Given the description of an element on the screen output the (x, y) to click on. 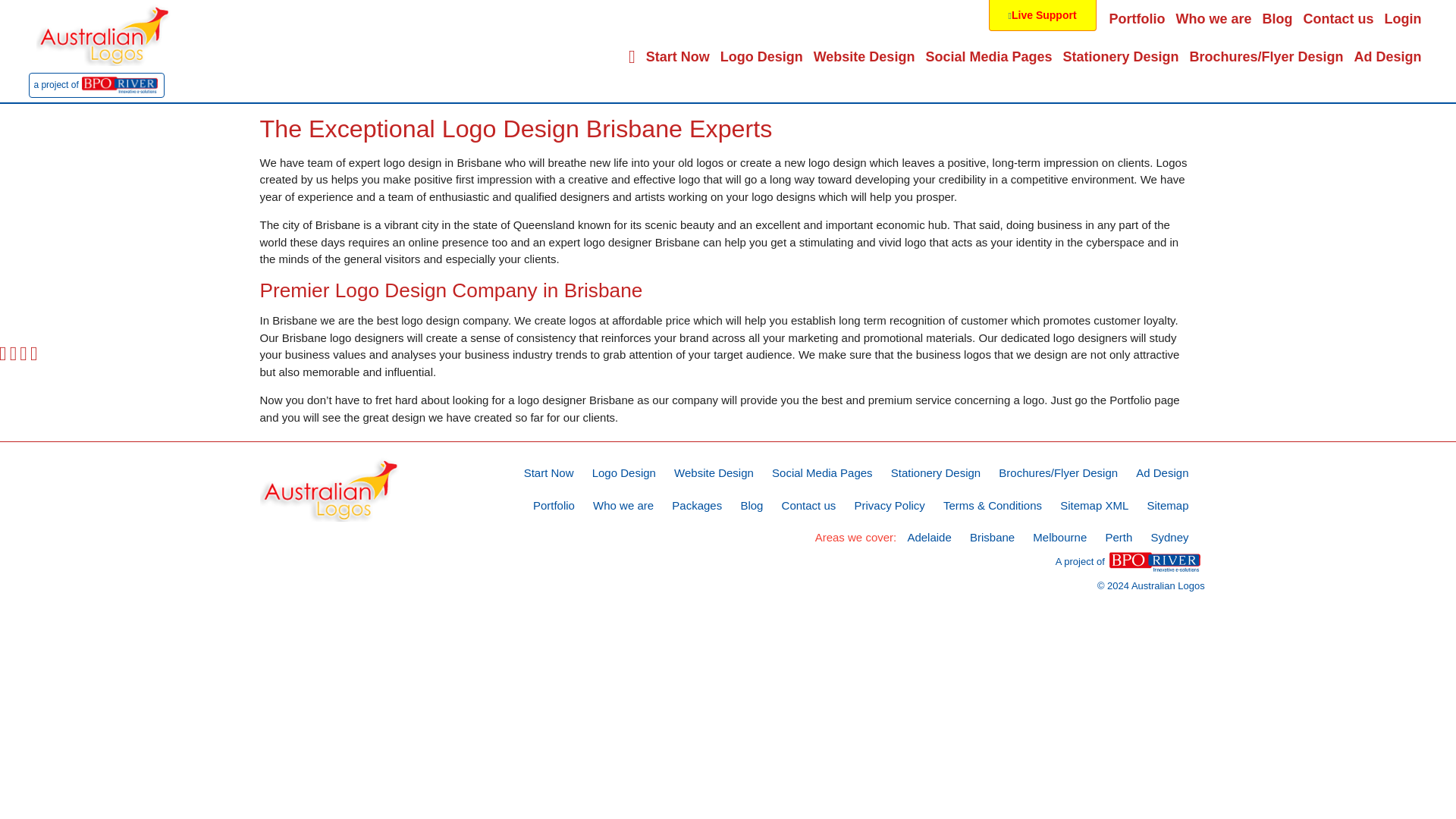
Contact us (1338, 18)
Who we are (1213, 18)
Stationery Design (1120, 56)
Social Media Pages (988, 56)
Logo Design (761, 56)
Start Now (677, 56)
Ad Design (1387, 56)
Website Design (864, 56)
Contact us (1338, 18)
Social Media Pages (988, 56)
